Given the description of an element on the screen output the (x, y) to click on. 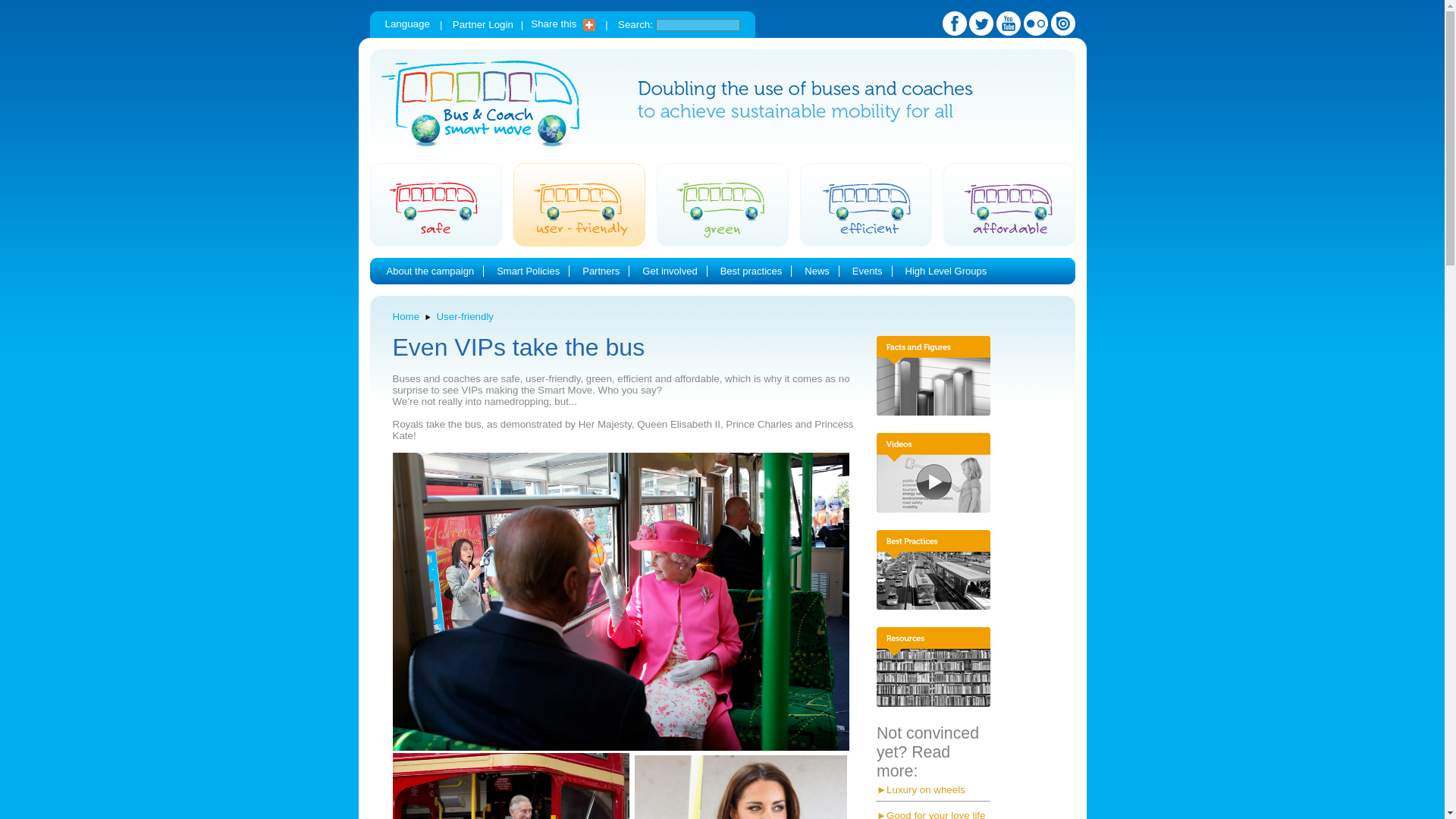
Luxury on wheels (925, 789)
Share this  (563, 23)
Smart Policies (527, 270)
User-friendly Resources (933, 666)
News (817, 270)
Partner Login (482, 24)
About the campaign (430, 270)
High Level Groups (946, 270)
Get involved (669, 270)
Good for your love life (935, 814)
Partners (601, 270)
Home (406, 316)
Events (866, 270)
User-friendly Best Practices (933, 569)
Good for your love life (935, 814)
